Given the description of an element on the screen output the (x, y) to click on. 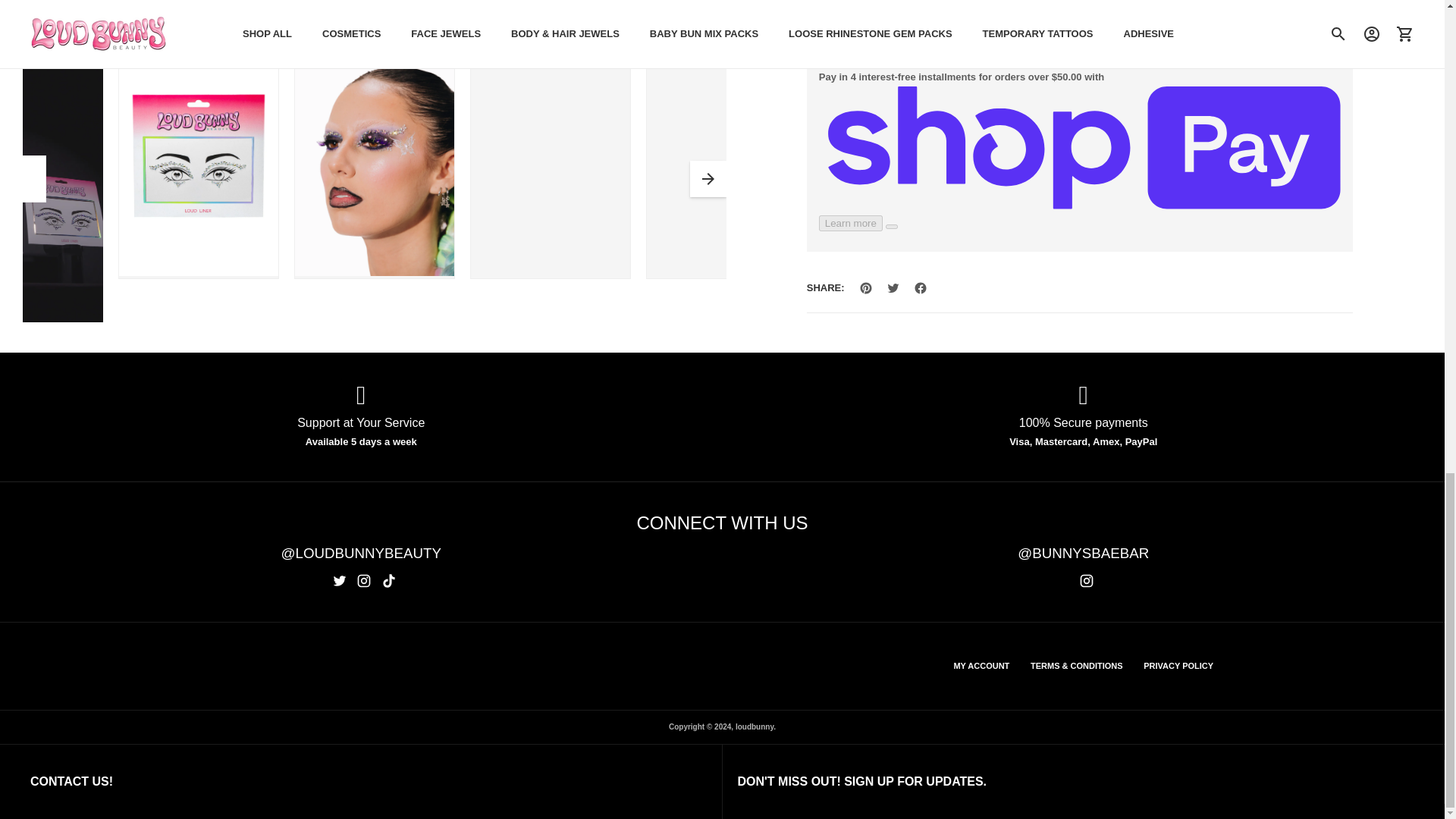
Open Image (726, 157)
LOUDBUNNY on Twitter (339, 580)
Open Image (198, 157)
Open Image (374, 157)
Next (708, 178)
Open Image (550, 157)
Open Image (378, 10)
